Given the description of an element on the screen output the (x, y) to click on. 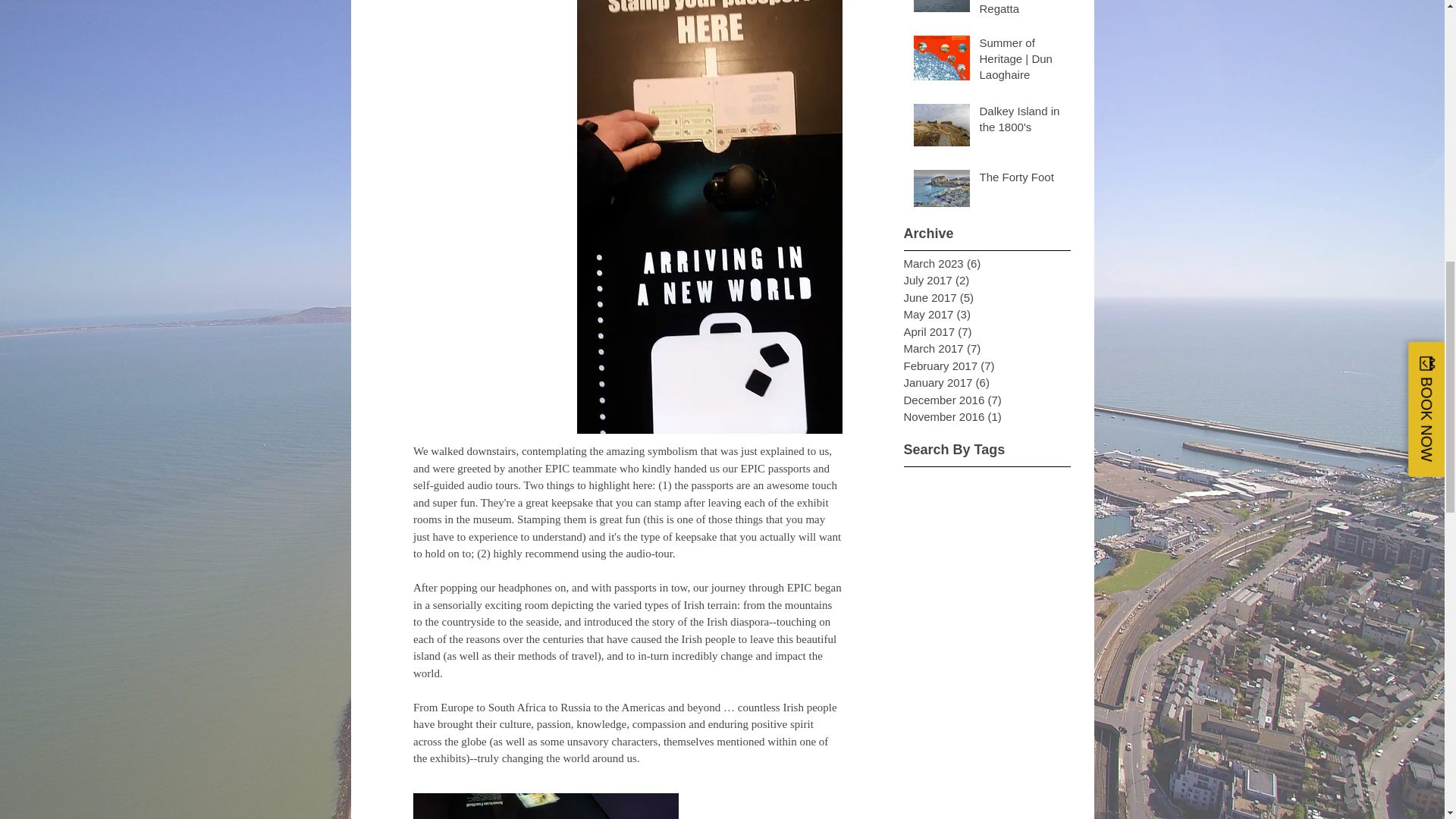
The Forty Foot (1020, 179)
Dalkey Island in the 1800's (1020, 121)
FareHarbor (1342, 64)
